Given the description of an element on the screen output the (x, y) to click on. 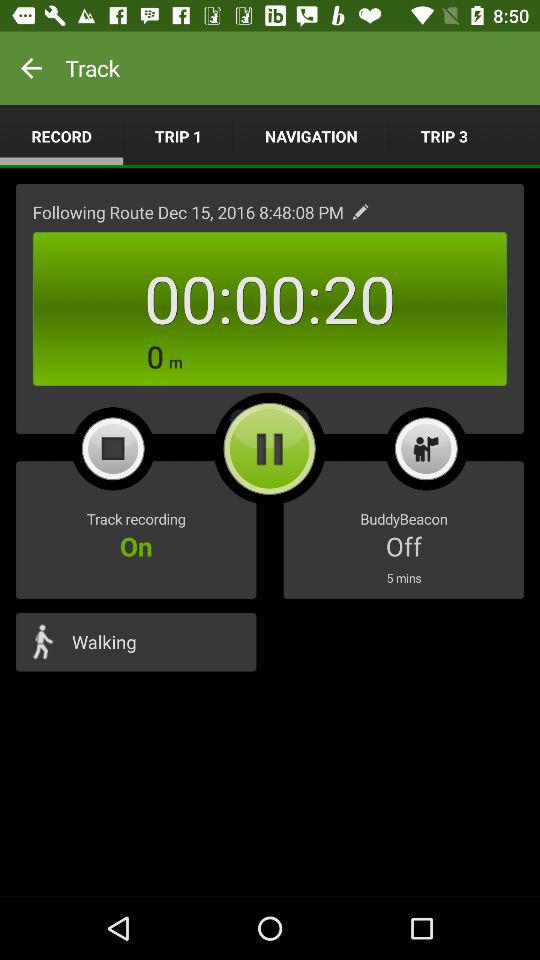
press the item to the right of navigation item (444, 136)
